Given the description of an element on the screen output the (x, y) to click on. 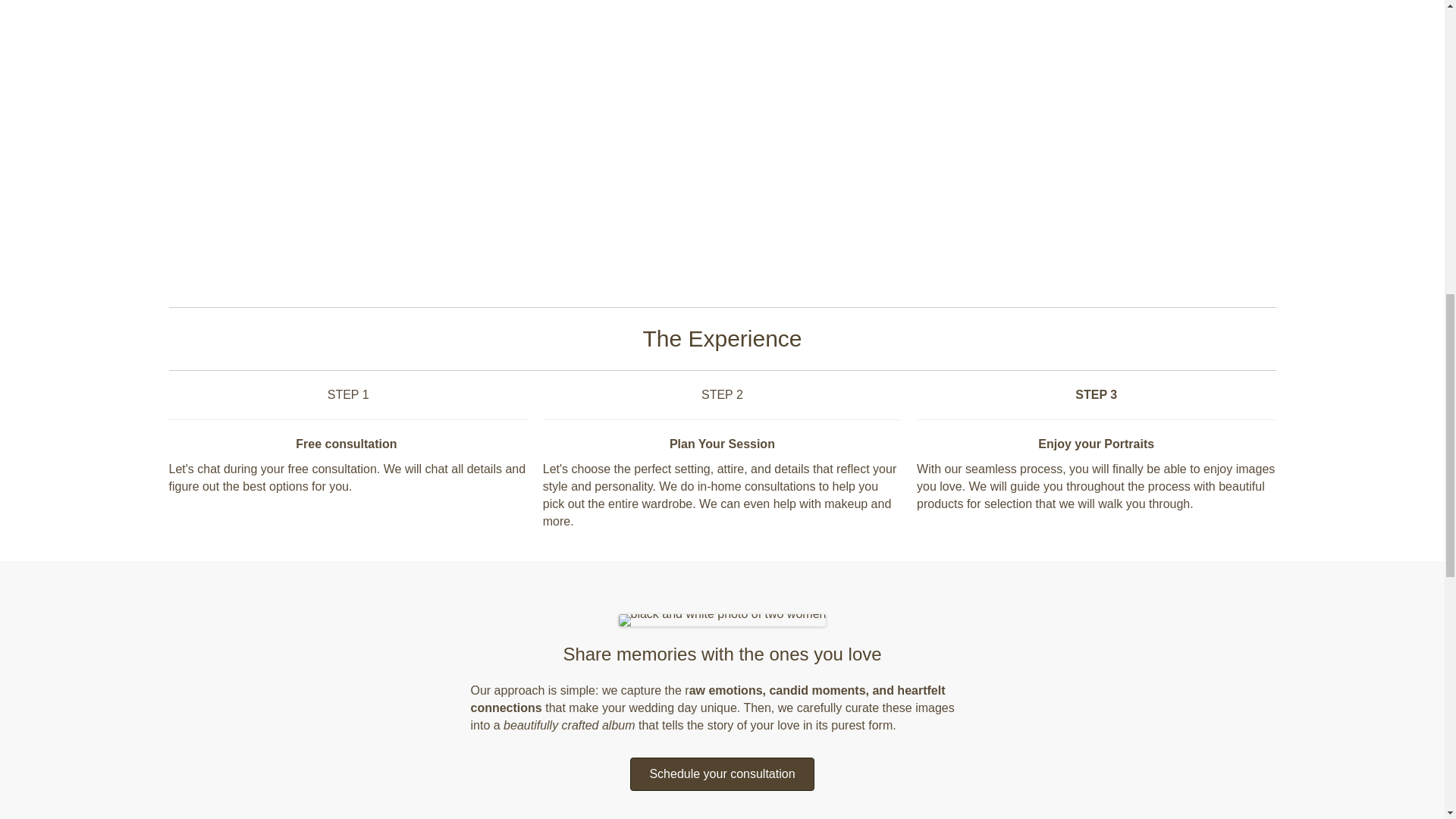
Schedule your consultation (721, 774)
wedding-mattapoisett-elopement-photography-14 (722, 620)
